Given the description of an element on the screen output the (x, y) to click on. 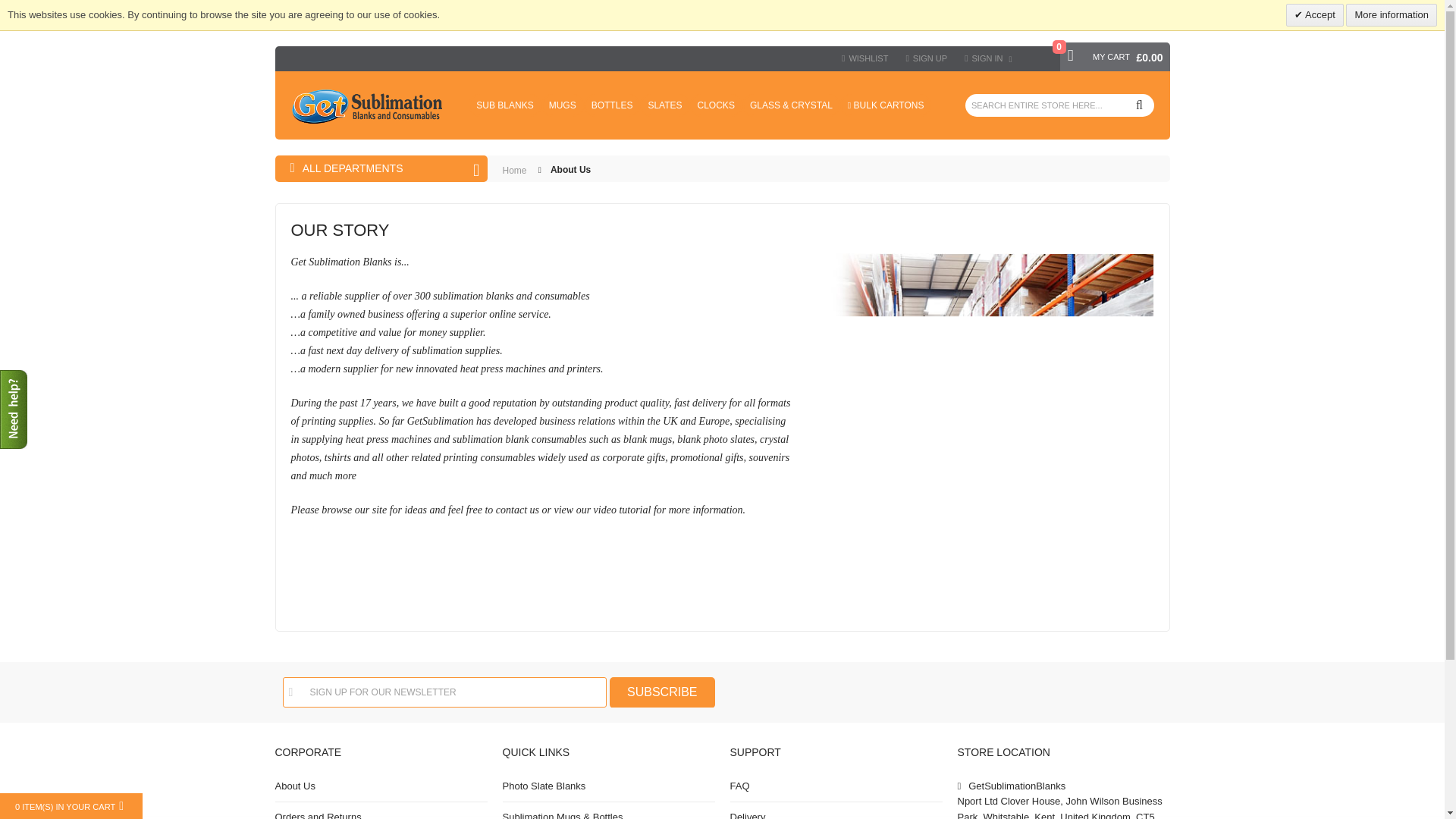
SUB BLANKS (504, 105)
WISHLIST (864, 58)
More information (1391, 15)
Accept (1314, 15)
Get Sublimation Blanks (366, 106)
SIGN UP (926, 58)
SIGN IN (988, 58)
